Given the description of an element on the screen output the (x, y) to click on. 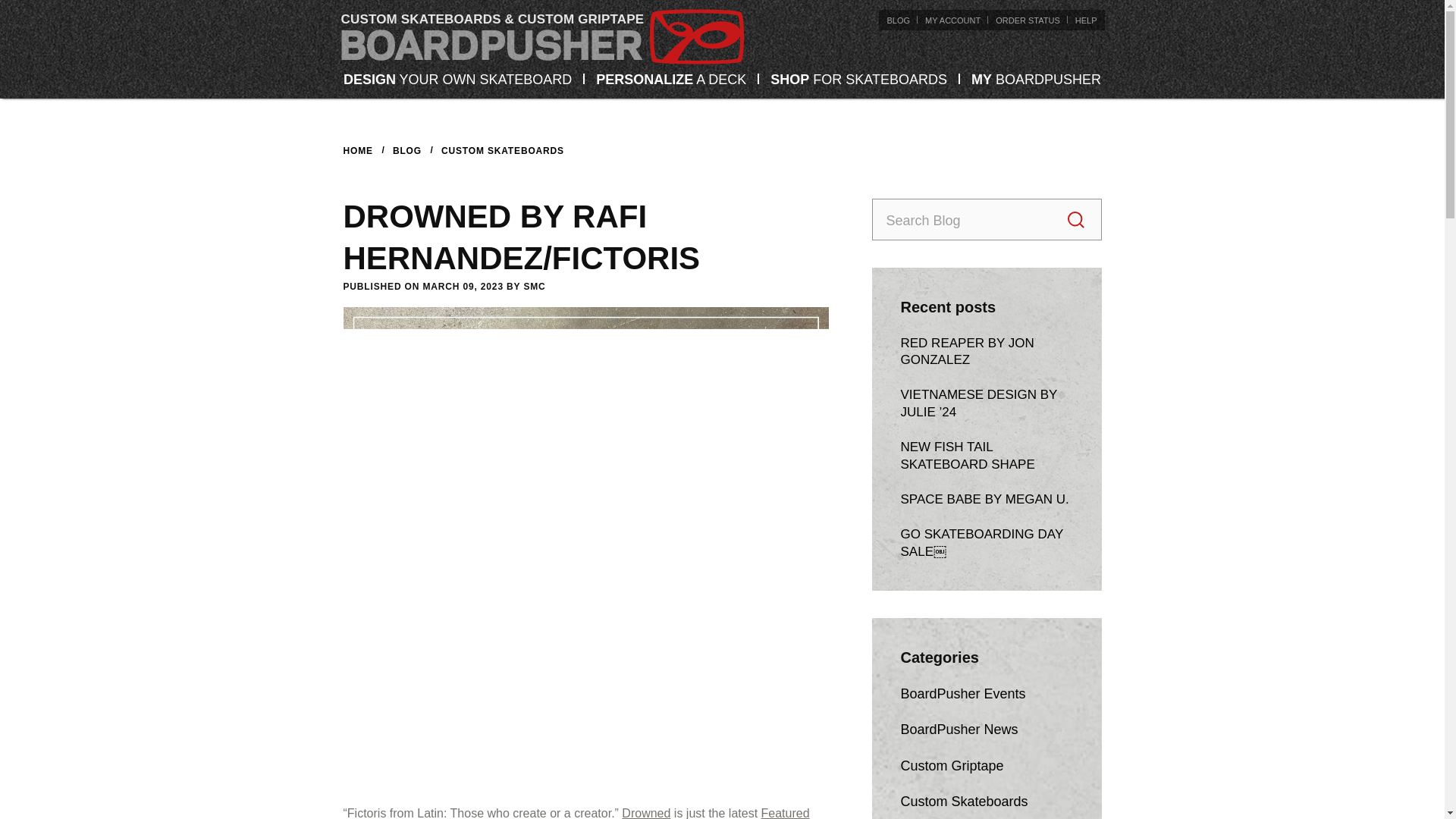
Search (1075, 219)
BLOG (407, 150)
RED REAPER BY JON GONZALEZ (967, 351)
SHOP FOR SKATEBOARDS (858, 79)
HOME (357, 150)
SMC (533, 286)
DESIGN YOUR OWN SKATEBOARD (457, 79)
Drowned (645, 812)
HELP (1086, 20)
CUSTOM SKATEBOARDS (502, 150)
PERSONALIZE A DECK (670, 79)
ORDER STATUS (1027, 20)
MY BOARDPUSHER (1035, 79)
Featured Deck (575, 812)
MY ACCOUNT (951, 20)
